Given the description of an element on the screen output the (x, y) to click on. 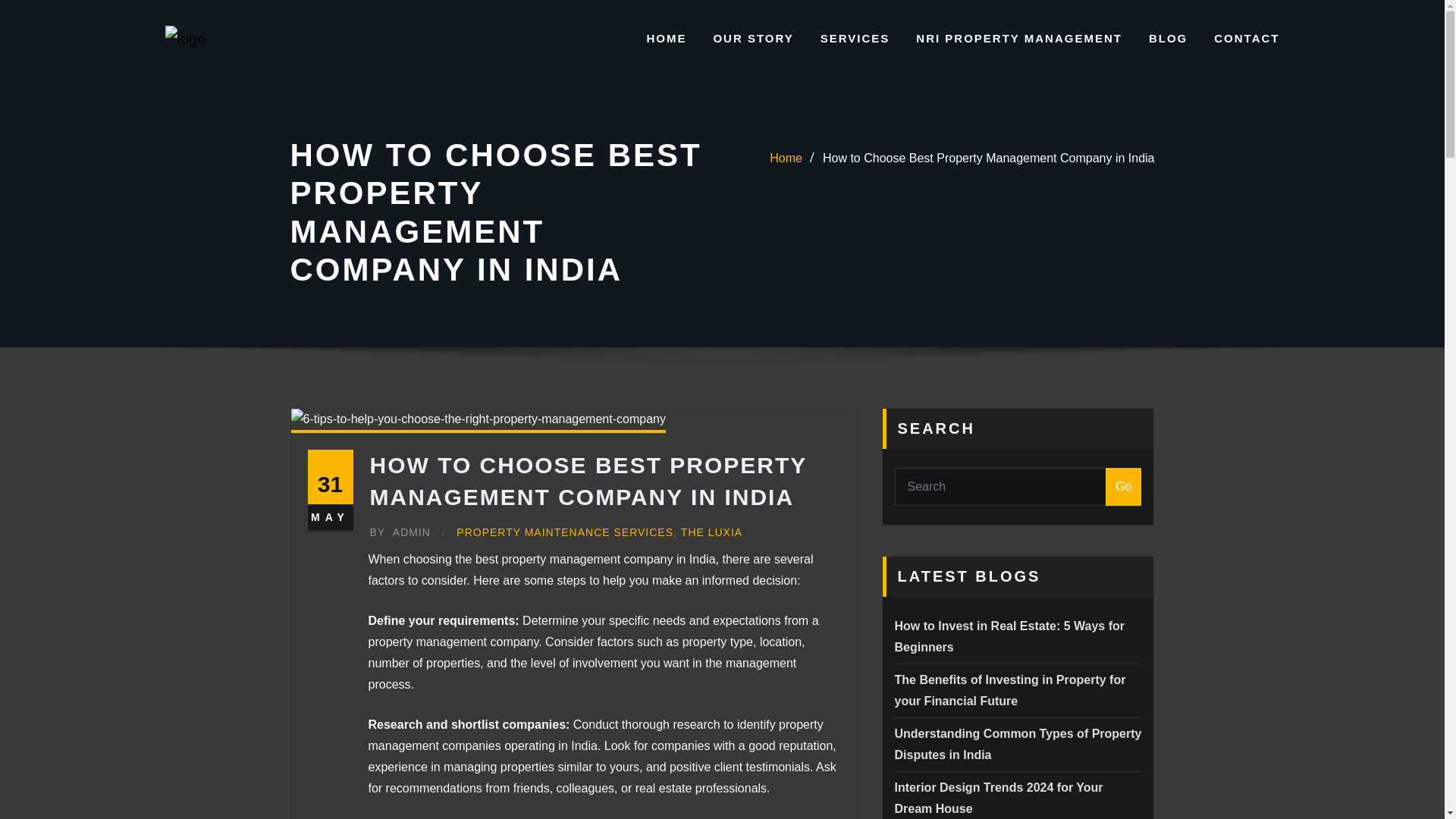
Home (786, 157)
NRI PROPERTY MANAGEMENT (1018, 38)
How to Choose Best Property Management Company in India (988, 157)
CONTACT (1246, 38)
HOME (665, 38)
SERVICES (855, 38)
PROPERTY MAINTENANCE SERVICES (564, 532)
BLOG (1168, 38)
THE LUXIA (711, 532)
